Given the description of an element on the screen output the (x, y) to click on. 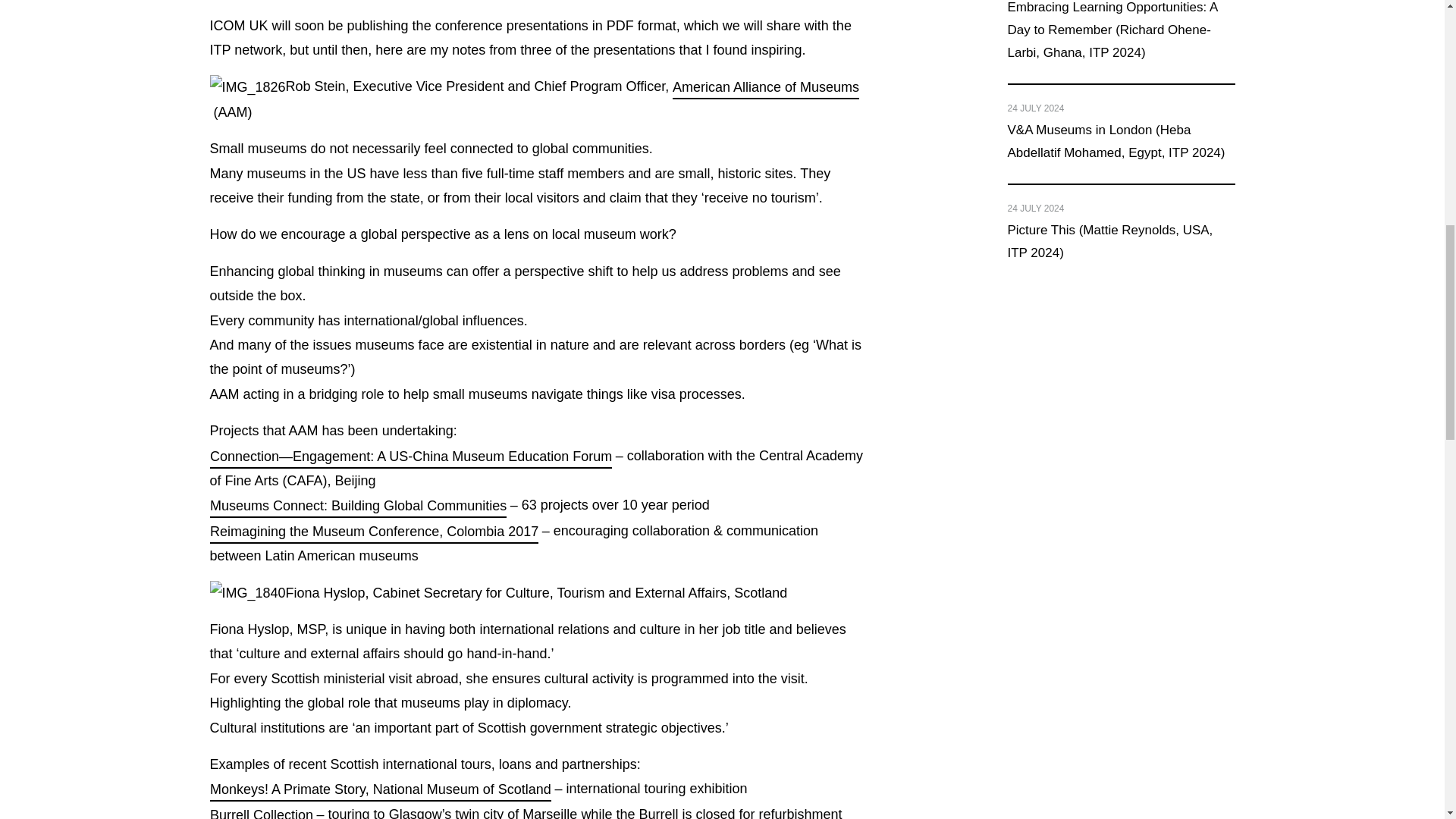
Museums Connect: Building Global Communities (357, 505)
Reimagining the Museum Conference, Colombia 2017 (373, 531)
American Alliance of Museums (765, 87)
